Given the description of an element on the screen output the (x, y) to click on. 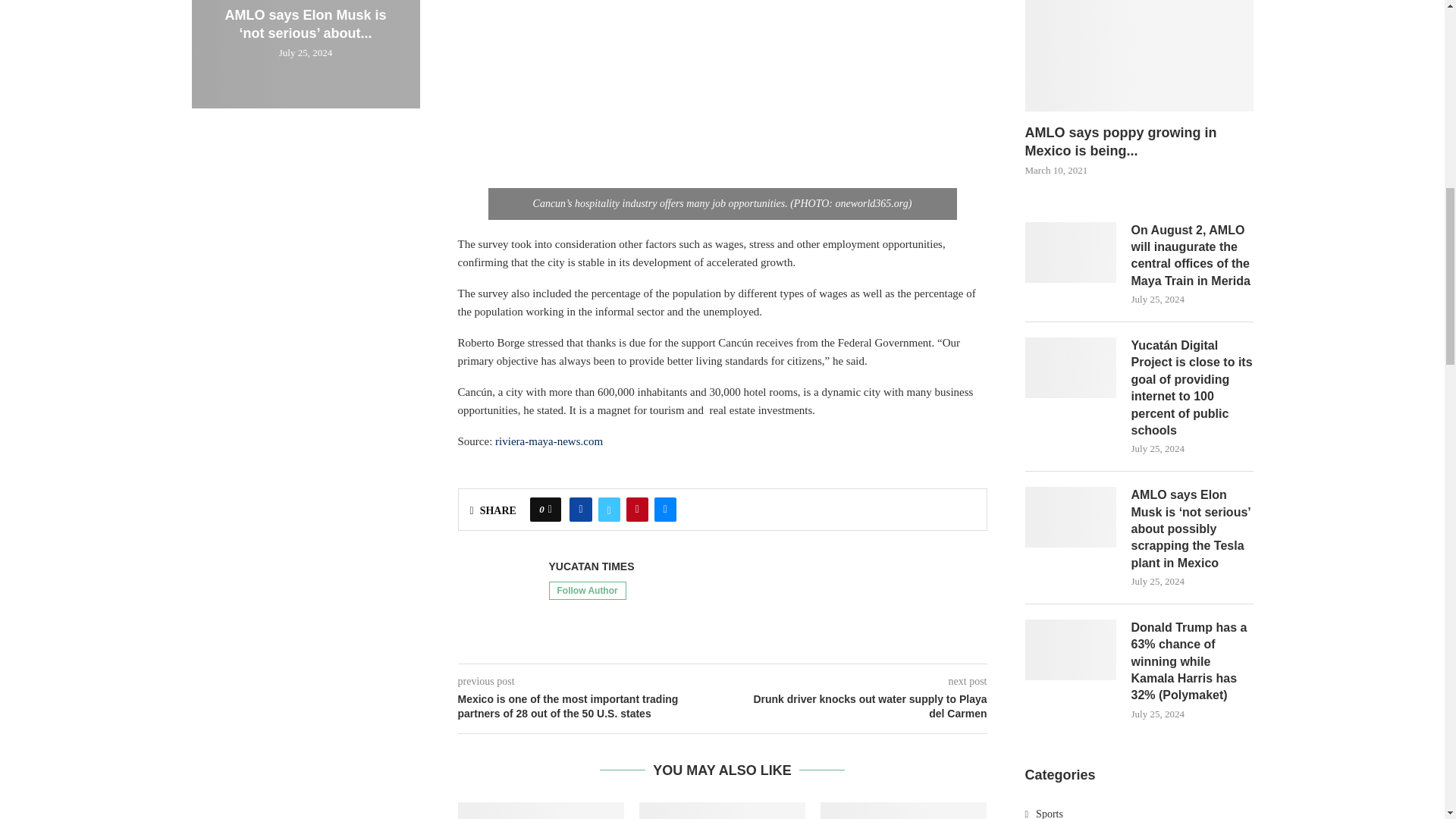
Author Yucatan Times (591, 566)
Like (549, 509)
